Given the description of an element on the screen output the (x, y) to click on. 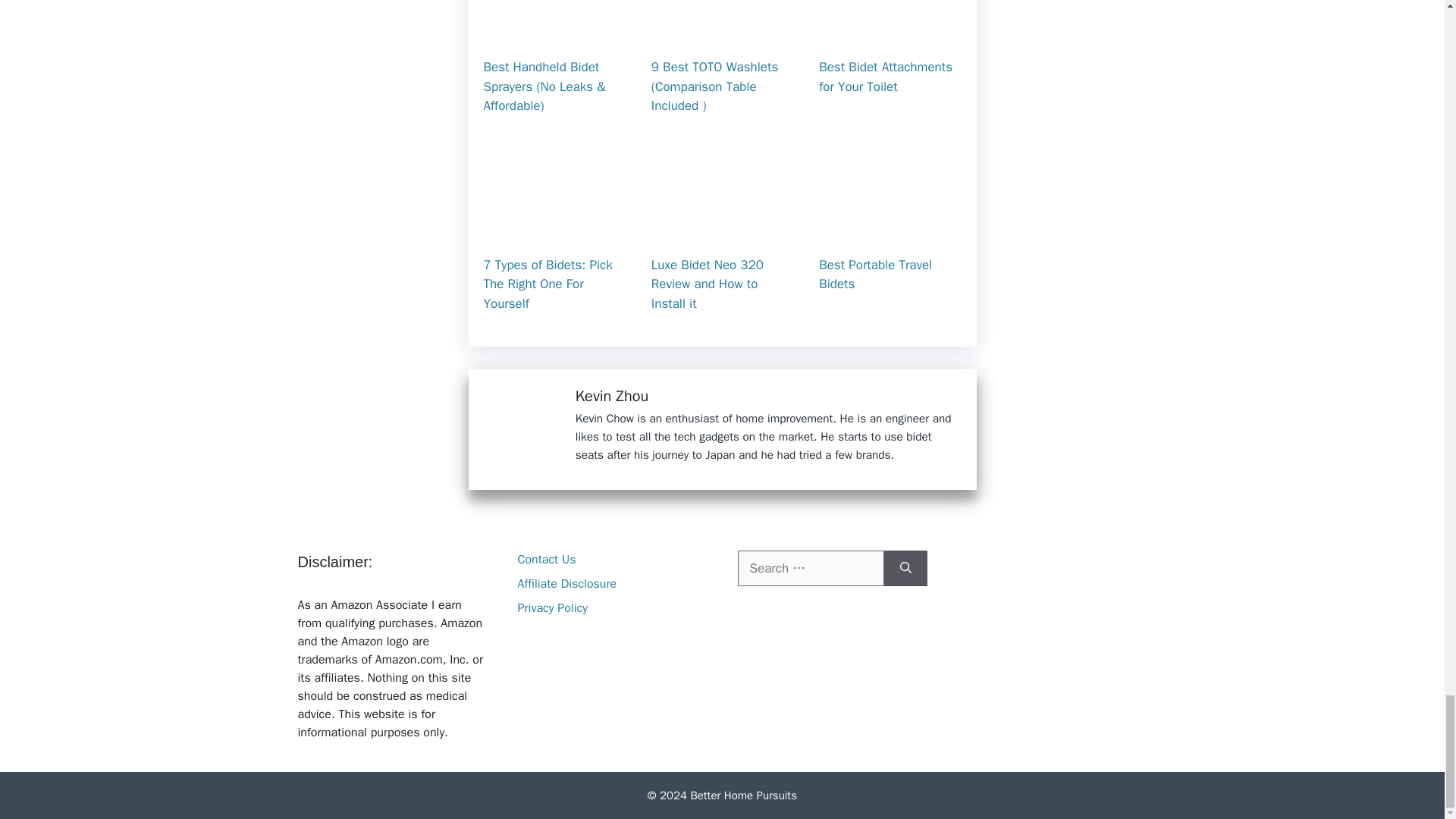
Privacy Policy (551, 607)
Best Portable Travel Bidets (874, 274)
7 Types of Bidets: Pick The Right One For Yourself (554, 232)
7 Types of Bidets: Pick The Right One For Yourself (547, 284)
Luxe Bidet Neo 320 Review and How to Install it (706, 284)
Contact Us (545, 559)
Search for: (809, 568)
Best Bidet Attachments for Your Toilet (885, 76)
Affiliate Disclosure (565, 583)
Best Portable Travel Bidets (889, 232)
